Given the description of an element on the screen output the (x, y) to click on. 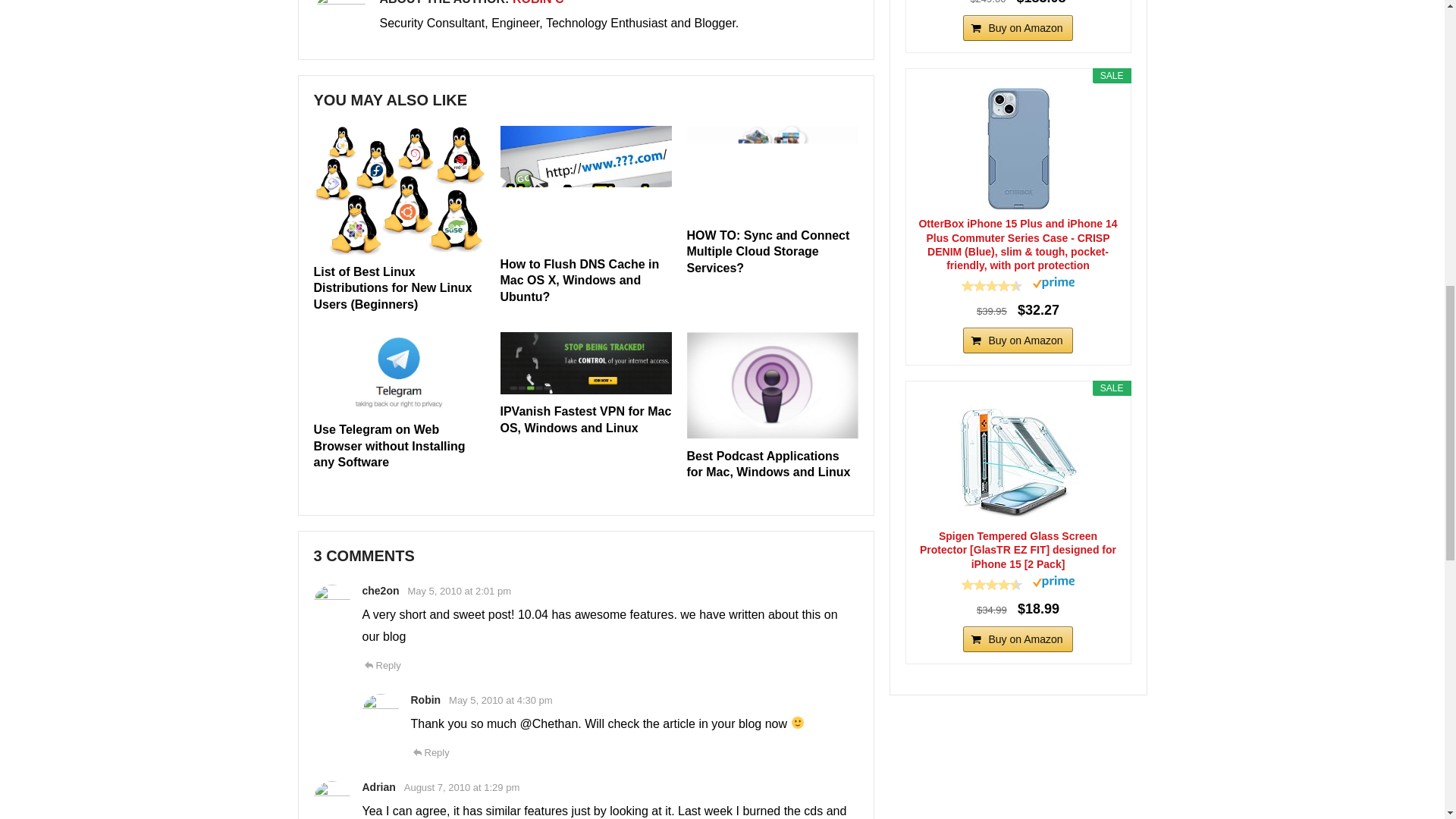
ROBIN C (538, 2)
How to Flush DNS Cache in Mac OS X, Windows and Ubuntu? (579, 280)
